Given the description of an element on the screen output the (x, y) to click on. 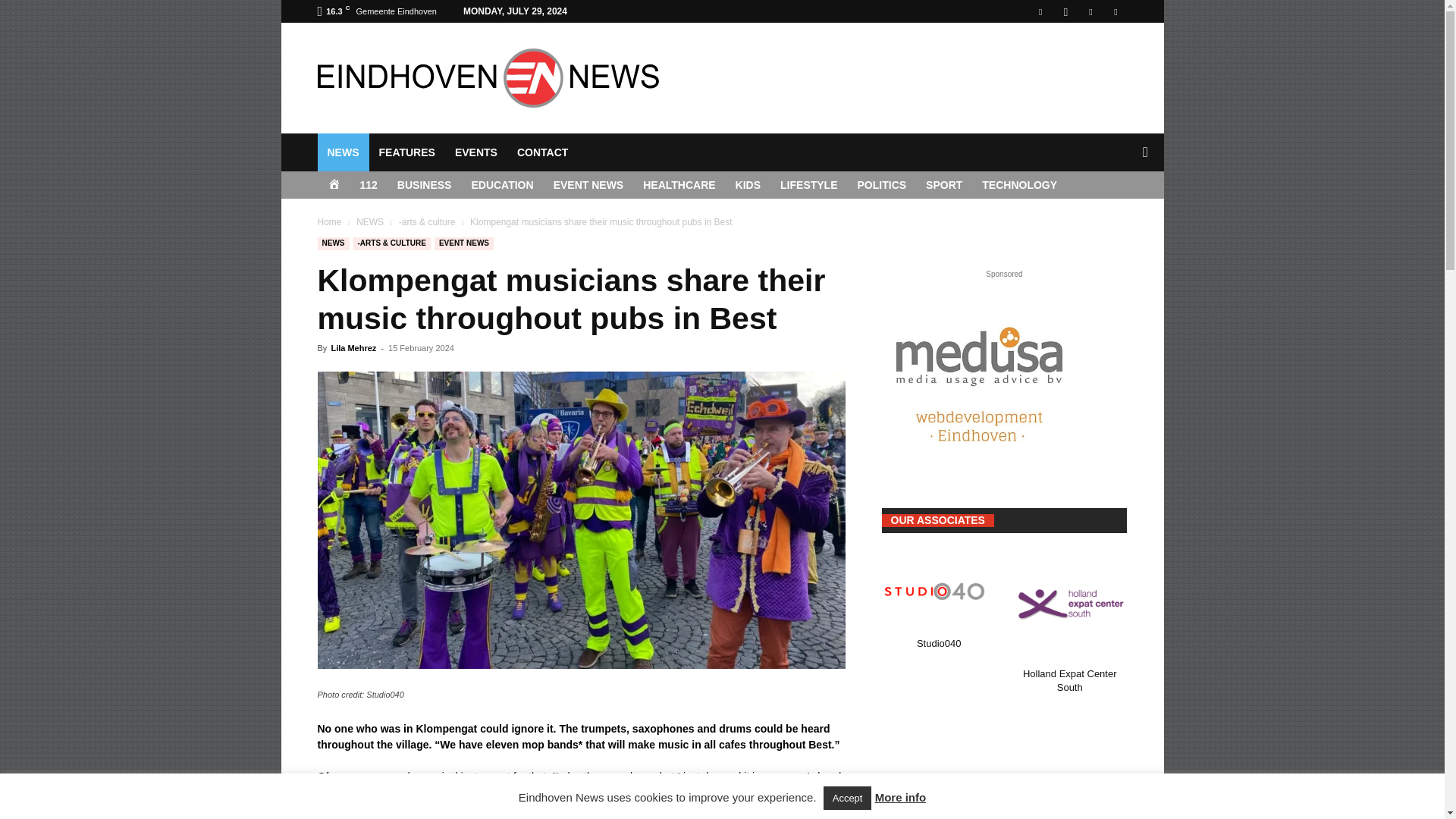
BUSINESS (424, 185)
EDUCATION (502, 185)
112 (368, 185)
CONTACT (542, 152)
NEWS (342, 152)
EVENTS (475, 152)
Instagram (1065, 11)
Twitter (1114, 11)
View all posts in NEWS (370, 222)
EVENT NEWS (588, 185)
FEATURES (406, 152)
